Given the description of an element on the screen output the (x, y) to click on. 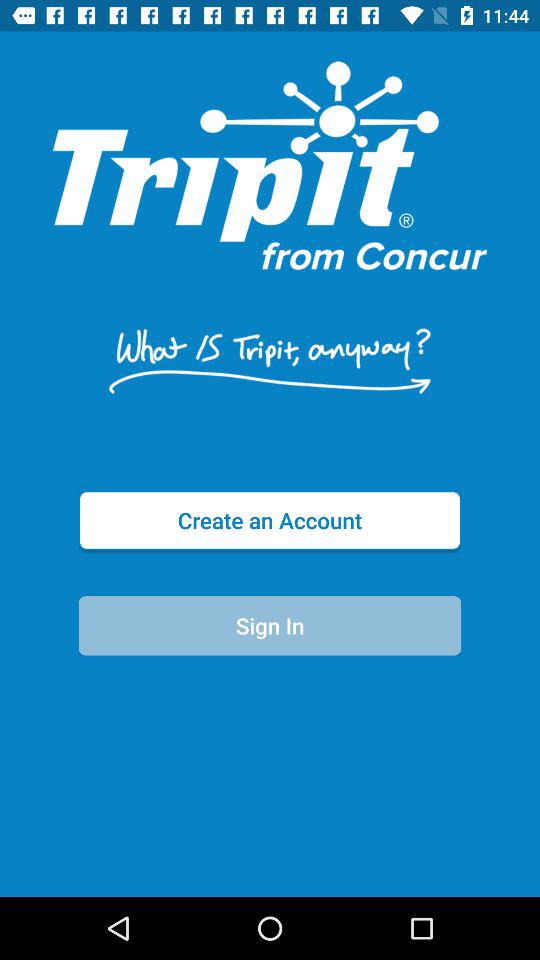
tap the sign in (269, 625)
